Given the description of an element on the screen output the (x, y) to click on. 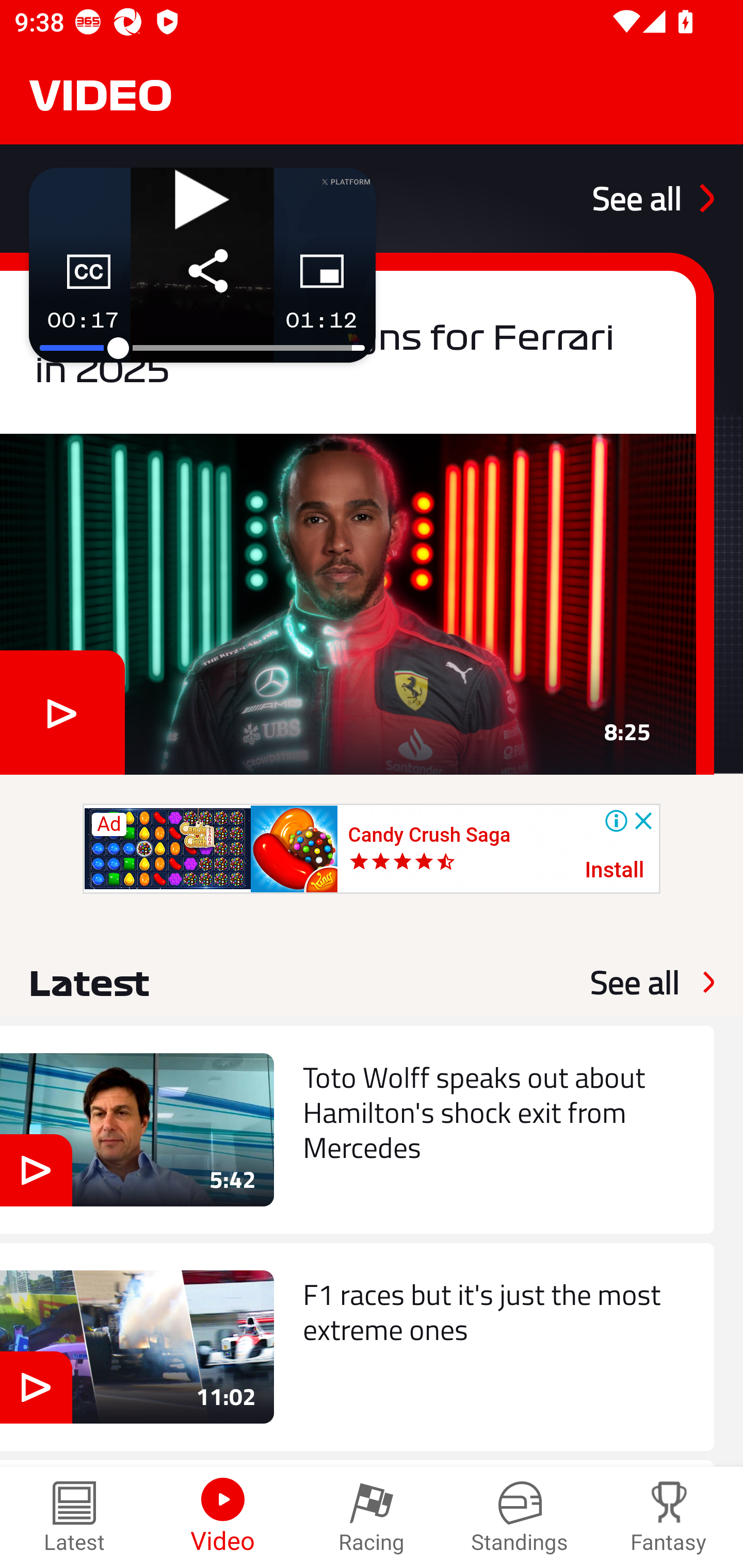
See all (653, 198)
Lewis Hamilton signs for Ferrari in 2025 8:25 (357, 513)
Candy Crush Saga (429, 834)
Install (614, 870)
See all (634, 982)
Latest (74, 1517)
Racing (371, 1517)
Standings (519, 1517)
Fantasy (668, 1517)
